Given the description of an element on the screen output the (x, y) to click on. 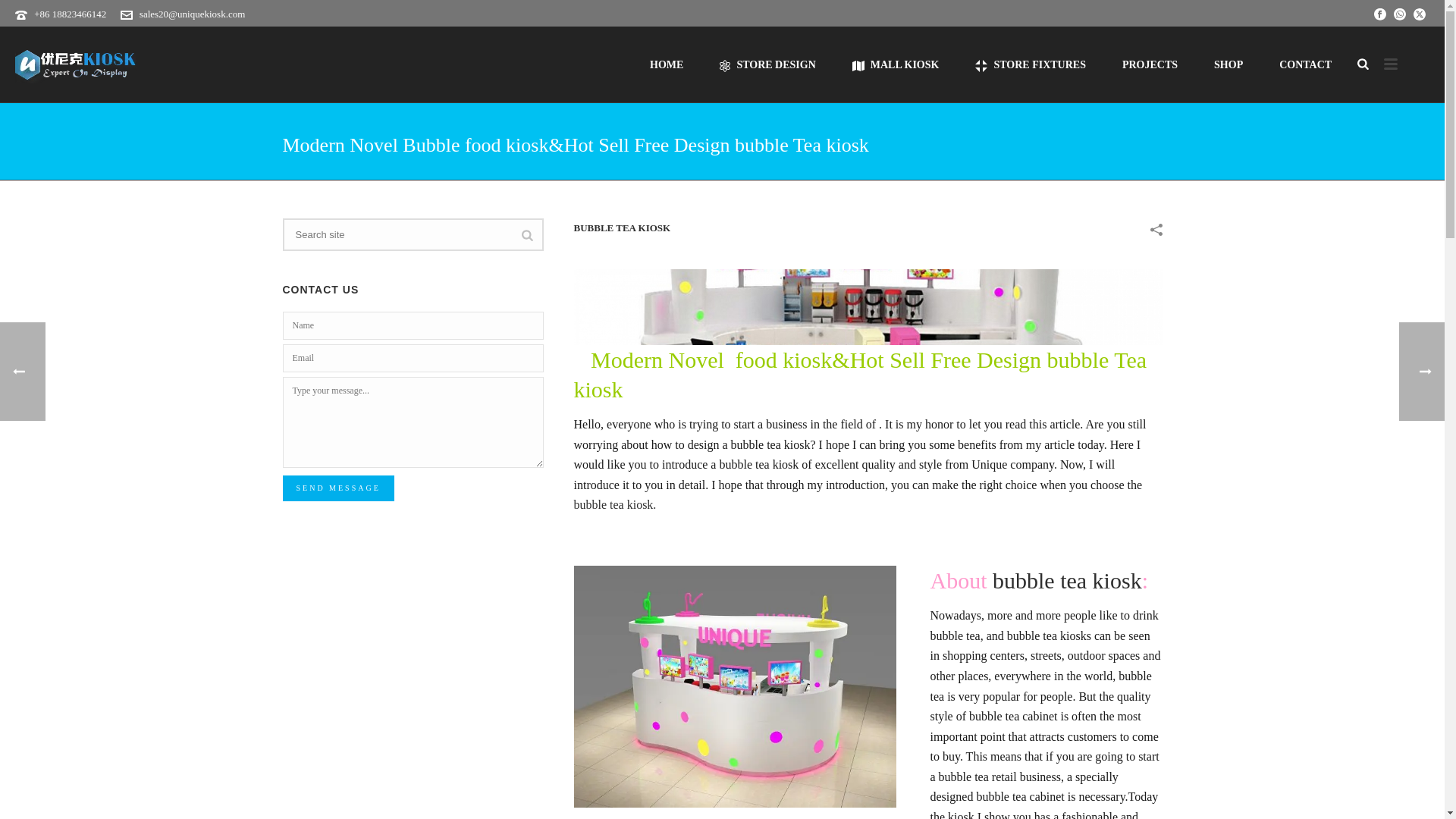
STORE DESIGN (767, 64)
STORE FIXTURES (1030, 64)
SHOP (1227, 64)
PROJECTS (1149, 64)
HOME (666, 64)
STORE FIXTURES (1030, 64)
HOME (666, 64)
STORE DESIGN (767, 64)
MALL KIOSK (895, 64)
Unique Kiosk (75, 64)
CONTACT (1305, 64)
MALL KIOSK (895, 64)
